Given the description of an element on the screen output the (x, y) to click on. 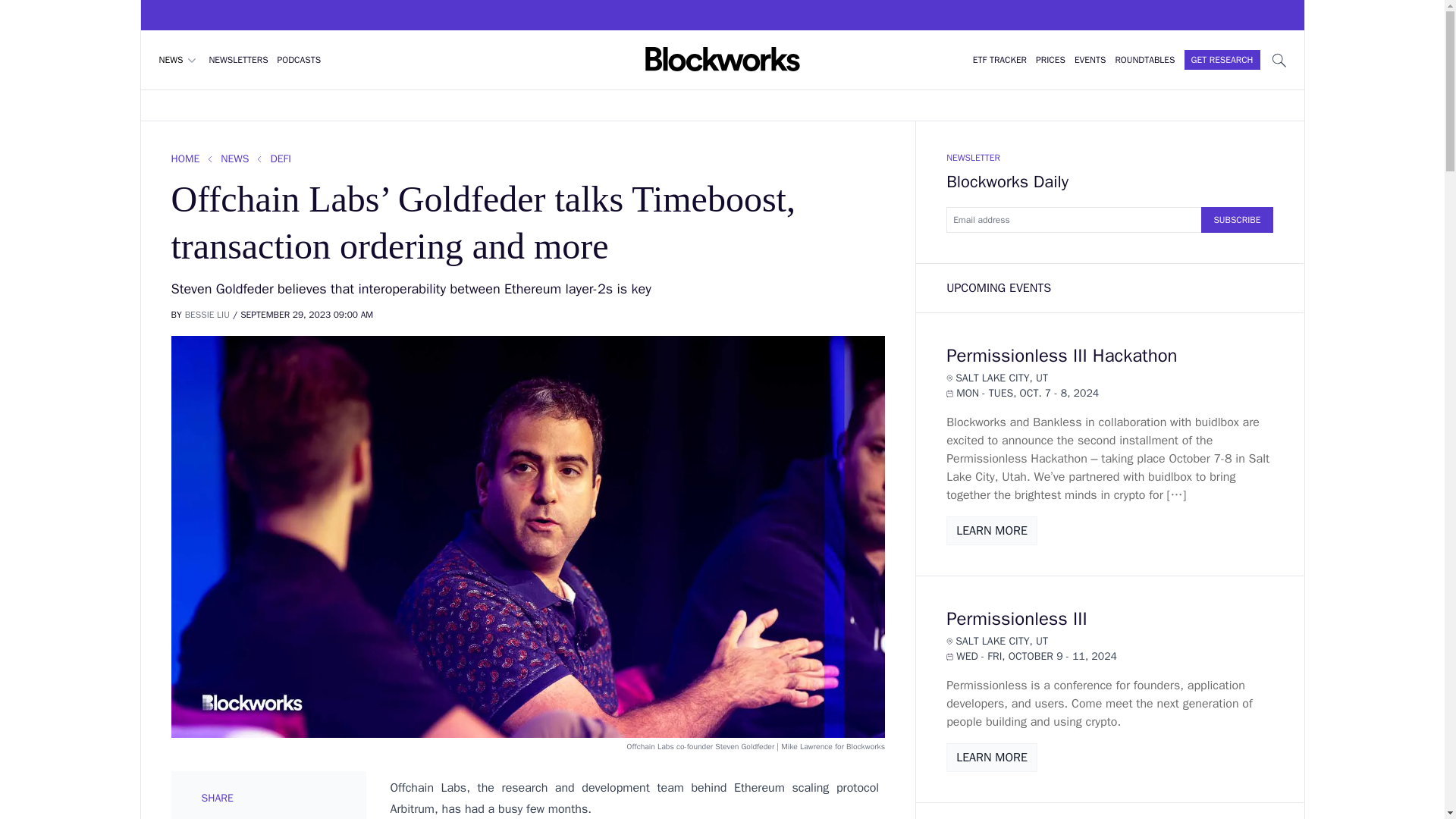
GET RESEARCH (1222, 59)
BESSIE LIU (207, 314)
ROUNDTABLES (1144, 60)
EVENTS (1089, 60)
NEWSLETTER (973, 157)
NEWS (179, 59)
Permissionless III Hackathon (1061, 354)
PODCASTS (299, 60)
PRICES (1050, 60)
SUBSCRIBE (1236, 219)
